Given the description of an element on the screen output the (x, y) to click on. 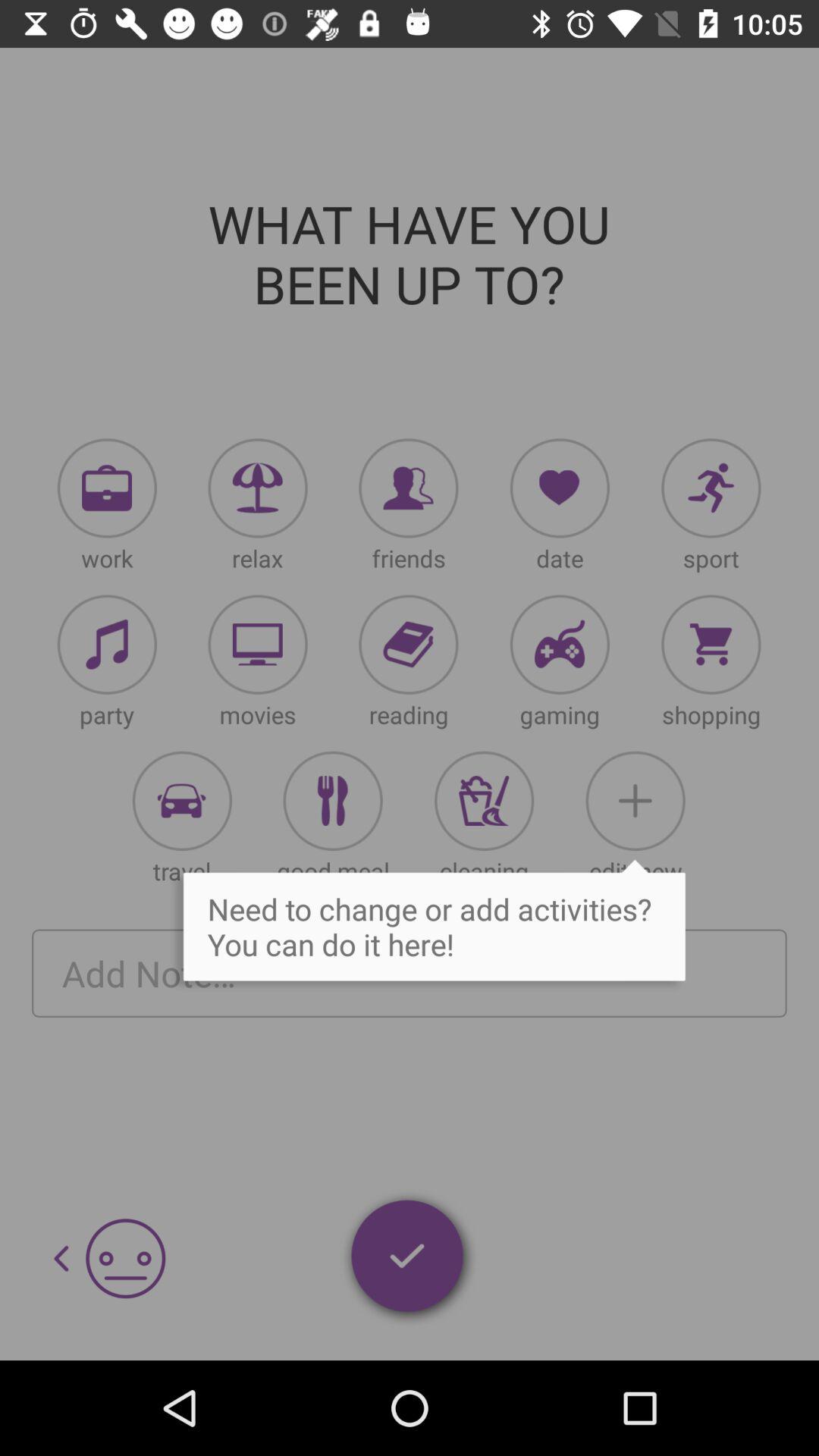
add selected items (408, 1258)
